Given the description of an element on the screen output the (x, y) to click on. 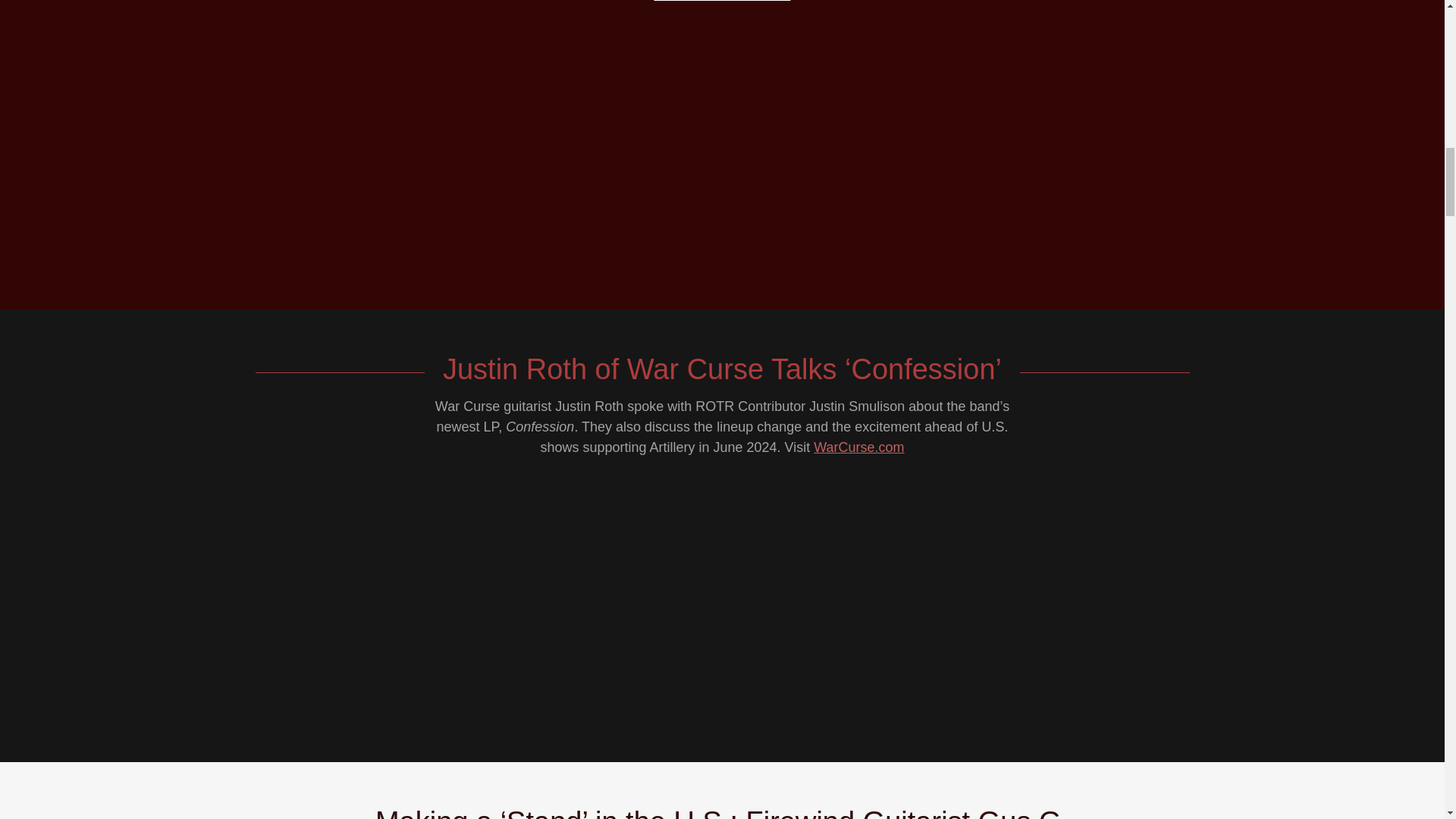
WarCurse.com (858, 447)
Clickable audio widget (721, 601)
Clickable audio widget (721, 148)
